Given the description of an element on the screen output the (x, y) to click on. 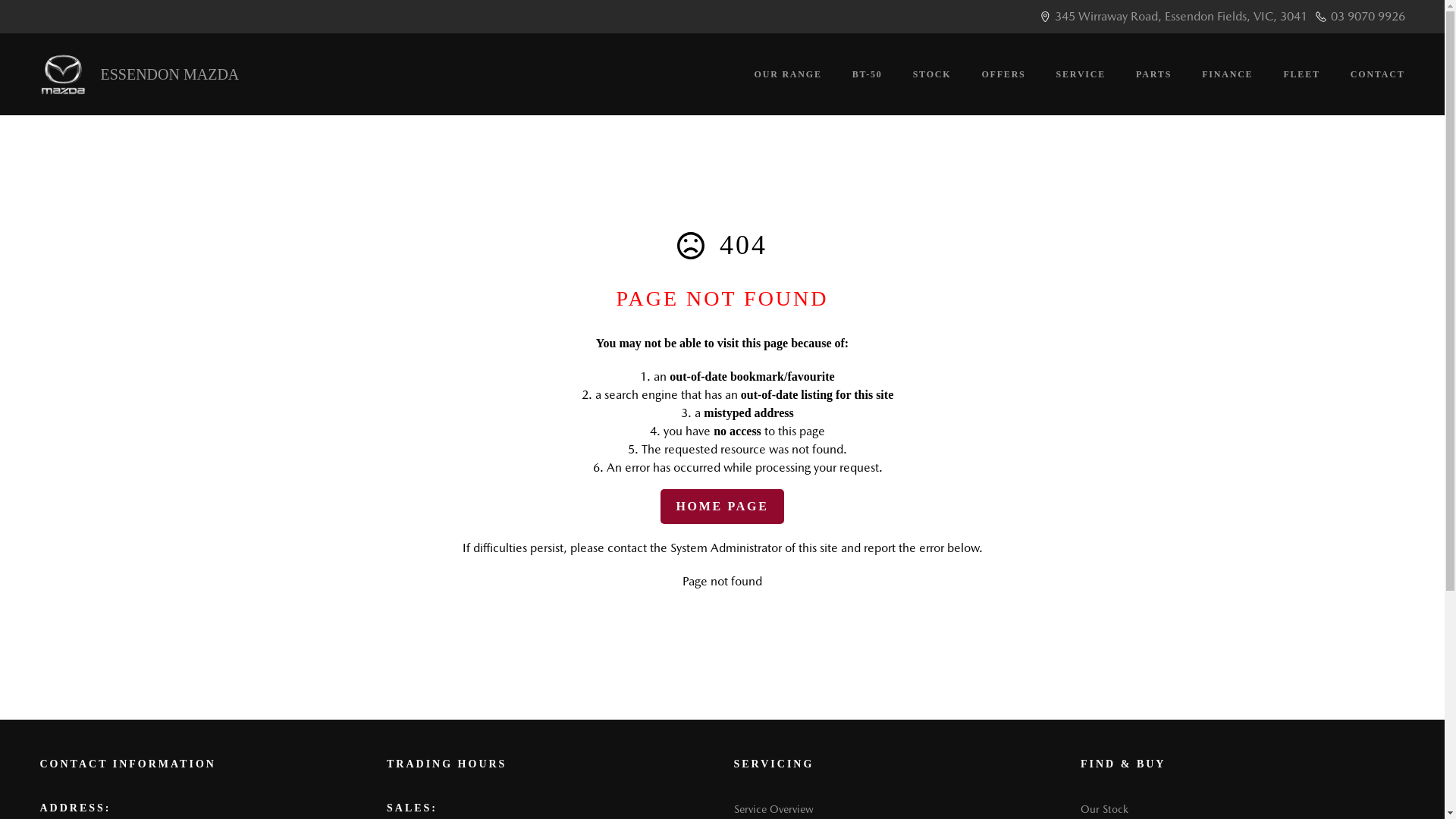
Our Stock Element type: text (1104, 808)
345 Wirraway Road, Essendon Fields, VIC, 3041 Element type: text (1180, 16)
ESSENDON MAZDA Element type: text (138, 74)
STOCK Element type: text (931, 74)
SERVICE Element type: text (1081, 74)
FLEET Element type: text (1300, 74)
CONTACT Element type: text (1370, 74)
PARTS Element type: text (1153, 74)
OUR RANGE Element type: text (788, 74)
OFFERS Element type: text (1003, 74)
HOME PAGE Element type: text (721, 506)
Service Overview Element type: text (773, 808)
FINANCE Element type: text (1226, 74)
03 9070 9926 Element type: text (1367, 16)
BT-50 Element type: text (867, 74)
